Given the description of an element on the screen output the (x, y) to click on. 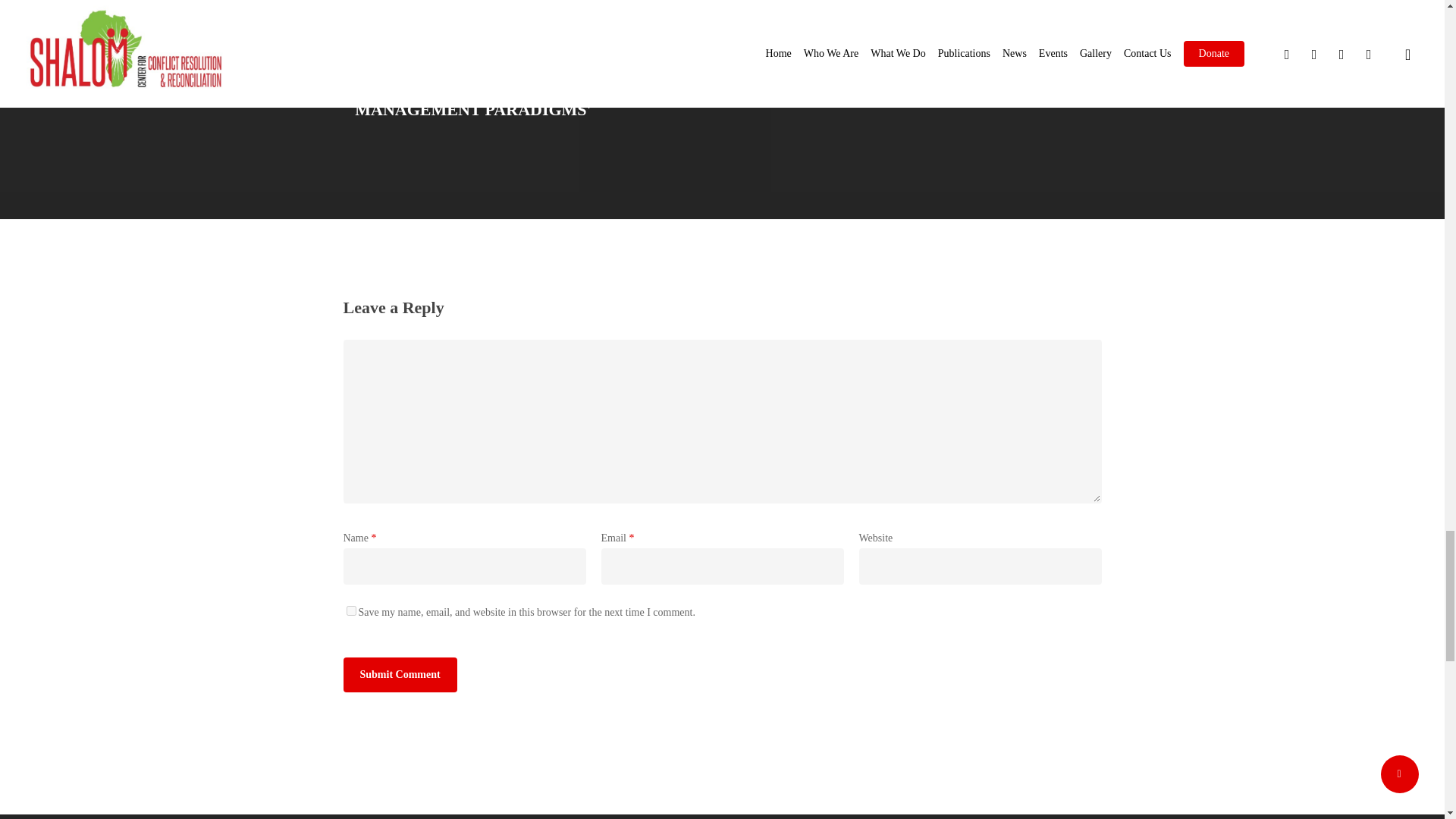
Submit Comment (399, 674)
Submit Comment (399, 674)
yes (350, 610)
